Given the description of an element on the screen output the (x, y) to click on. 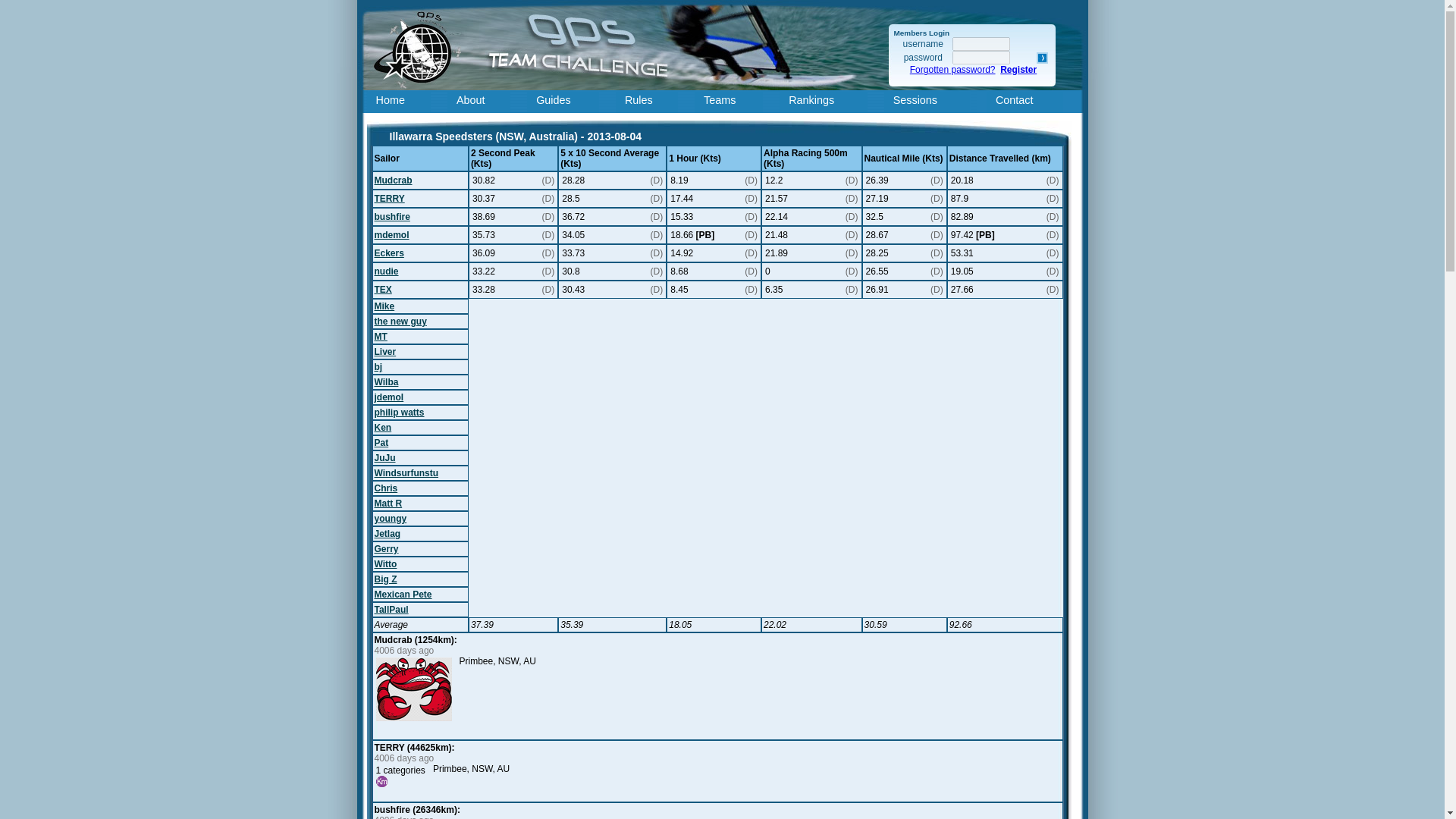
Home (402, 101)
TERRY (389, 198)
Wilba (386, 381)
Chris (385, 488)
Eckers (389, 253)
JuJu (385, 457)
About (482, 101)
Pat (381, 442)
MT (380, 336)
the new guy (400, 321)
S (1042, 57)
Ken (382, 427)
philip watts (399, 412)
Forgotten password? (952, 69)
Rankings (827, 101)
